Given the description of an element on the screen output the (x, y) to click on. 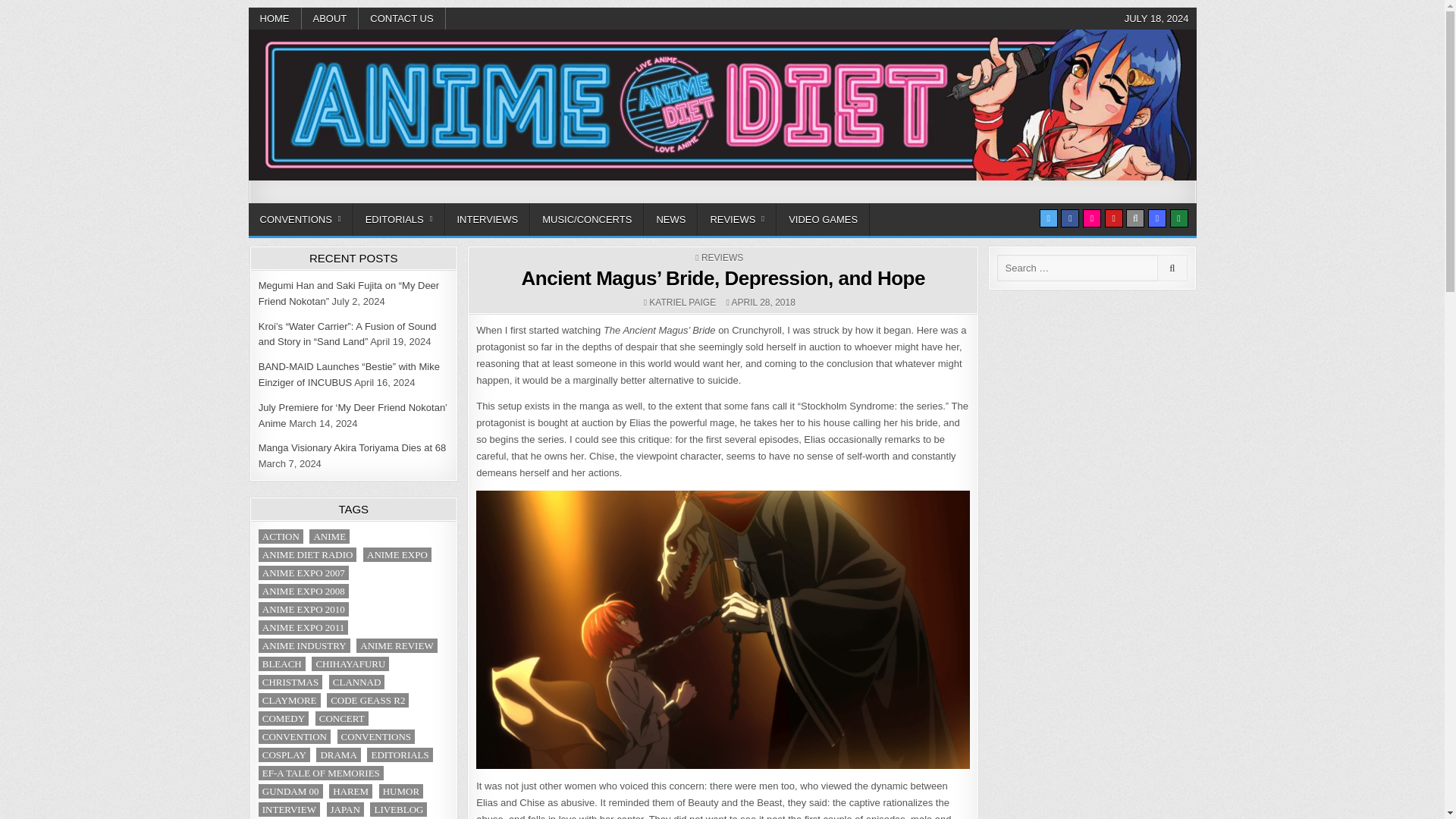
Facebook (1069, 218)
ABOUT (330, 18)
Youtube (1113, 218)
REVIEWS (736, 219)
Flickr (1091, 218)
Random Article (1157, 218)
CONTACT US (401, 18)
HOME (274, 18)
NEWS (670, 219)
INTERVIEWS (486, 219)
Twitter (1048, 218)
EDITORIALS (399, 219)
Anime Diet (304, 200)
VIDEO GAMES (822, 219)
Search (1134, 218)
